Given the description of an element on the screen output the (x, y) to click on. 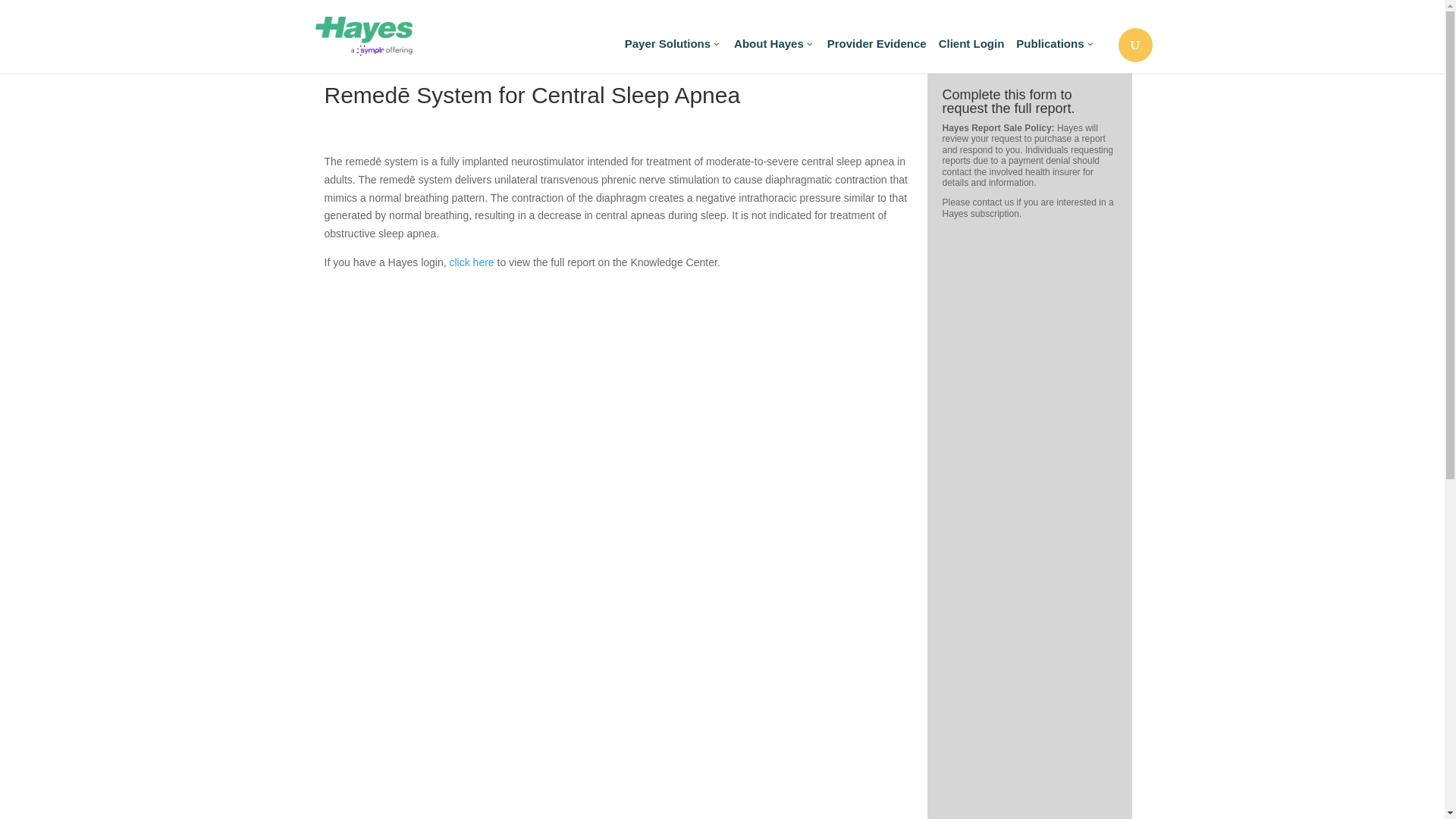
Payer Solutions (673, 52)
Client Login (971, 52)
Provider Evidence (877, 52)
Publications (1055, 52)
About Hayes (774, 52)
